Given the description of an element on the screen output the (x, y) to click on. 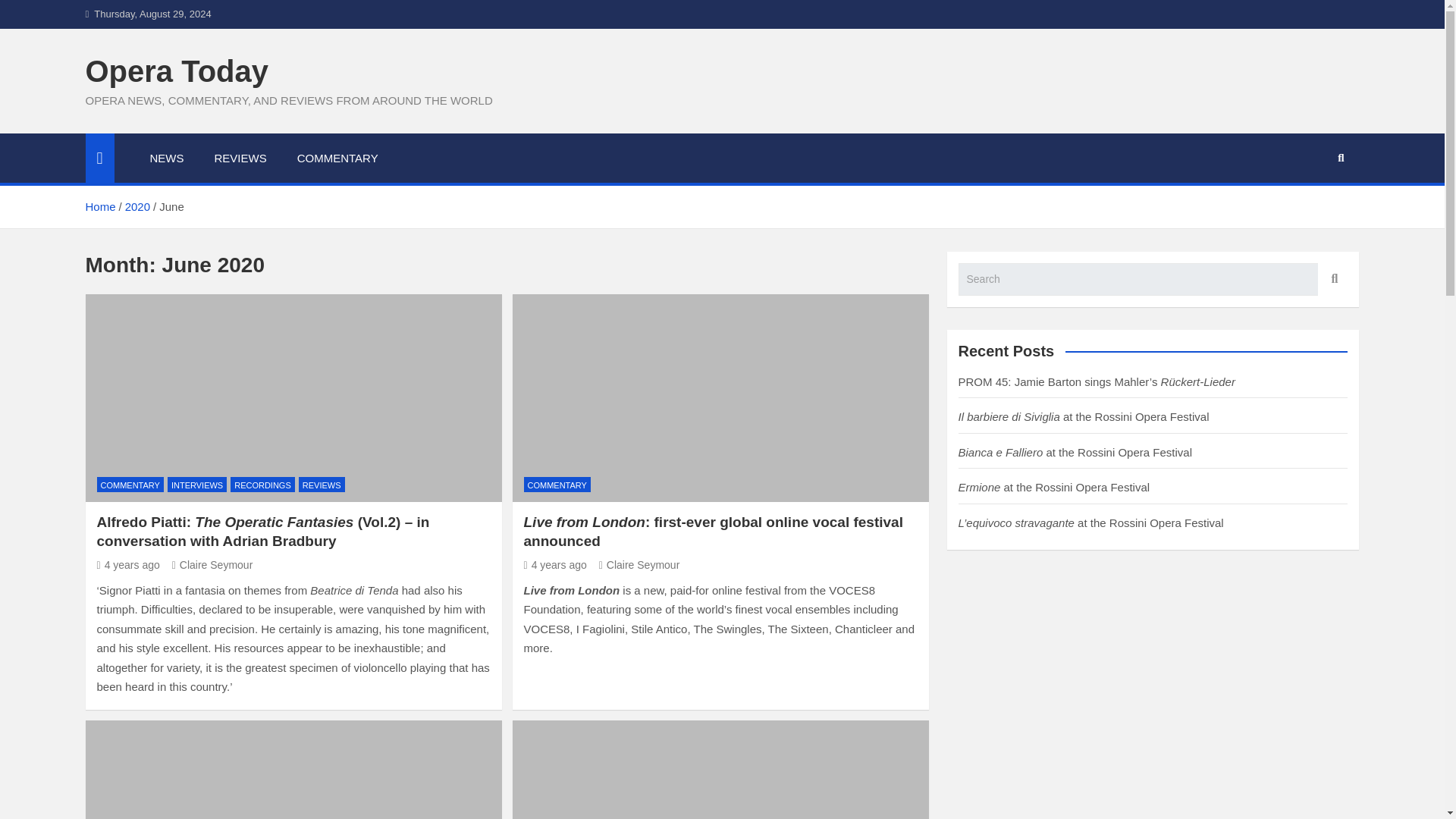
REVIEWS (239, 158)
Claire Seymour (212, 564)
RECORDINGS (262, 484)
COMMENTARY (555, 484)
Home (99, 205)
INTERVIEWS (197, 484)
COMMENTARY (130, 484)
